Given the description of an element on the screen output the (x, y) to click on. 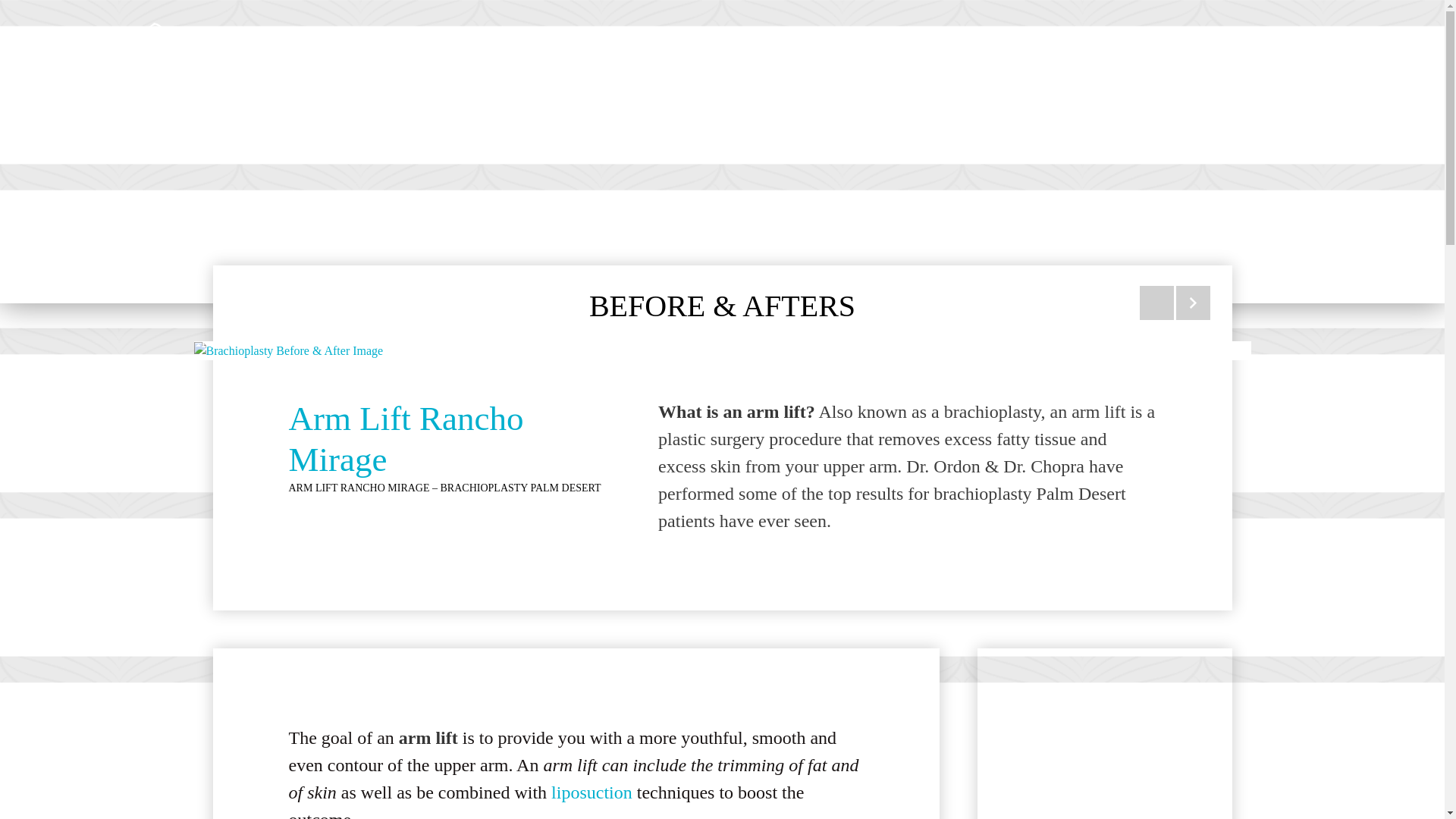
Schedule A Consultation (1236, 49)
760.568.2211 (1072, 59)
